Given the description of an element on the screen output the (x, y) to click on. 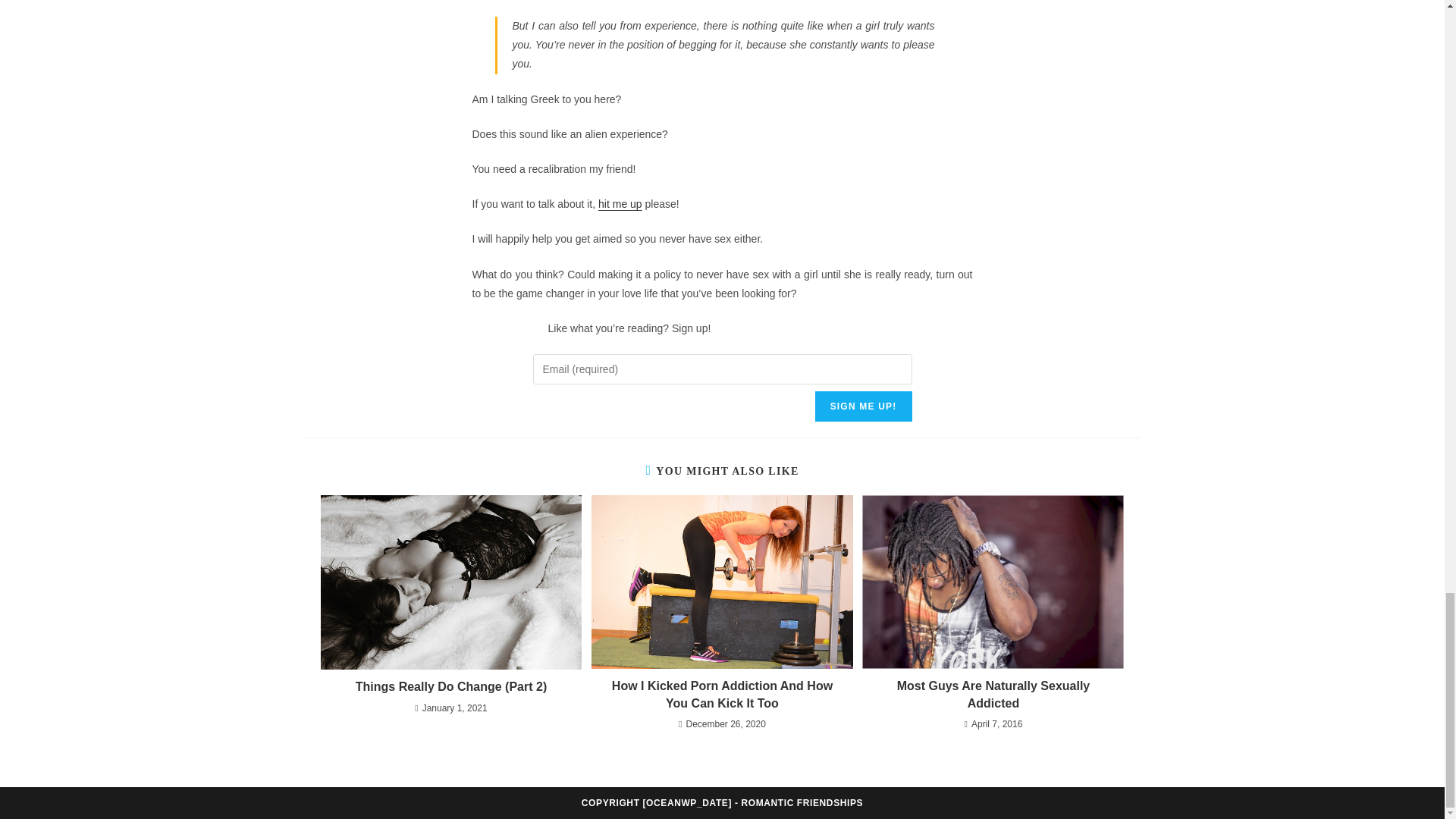
hit me up (620, 203)
Sign me up! (863, 406)
Sign me up! (863, 406)
